Given the description of an element on the screen output the (x, y) to click on. 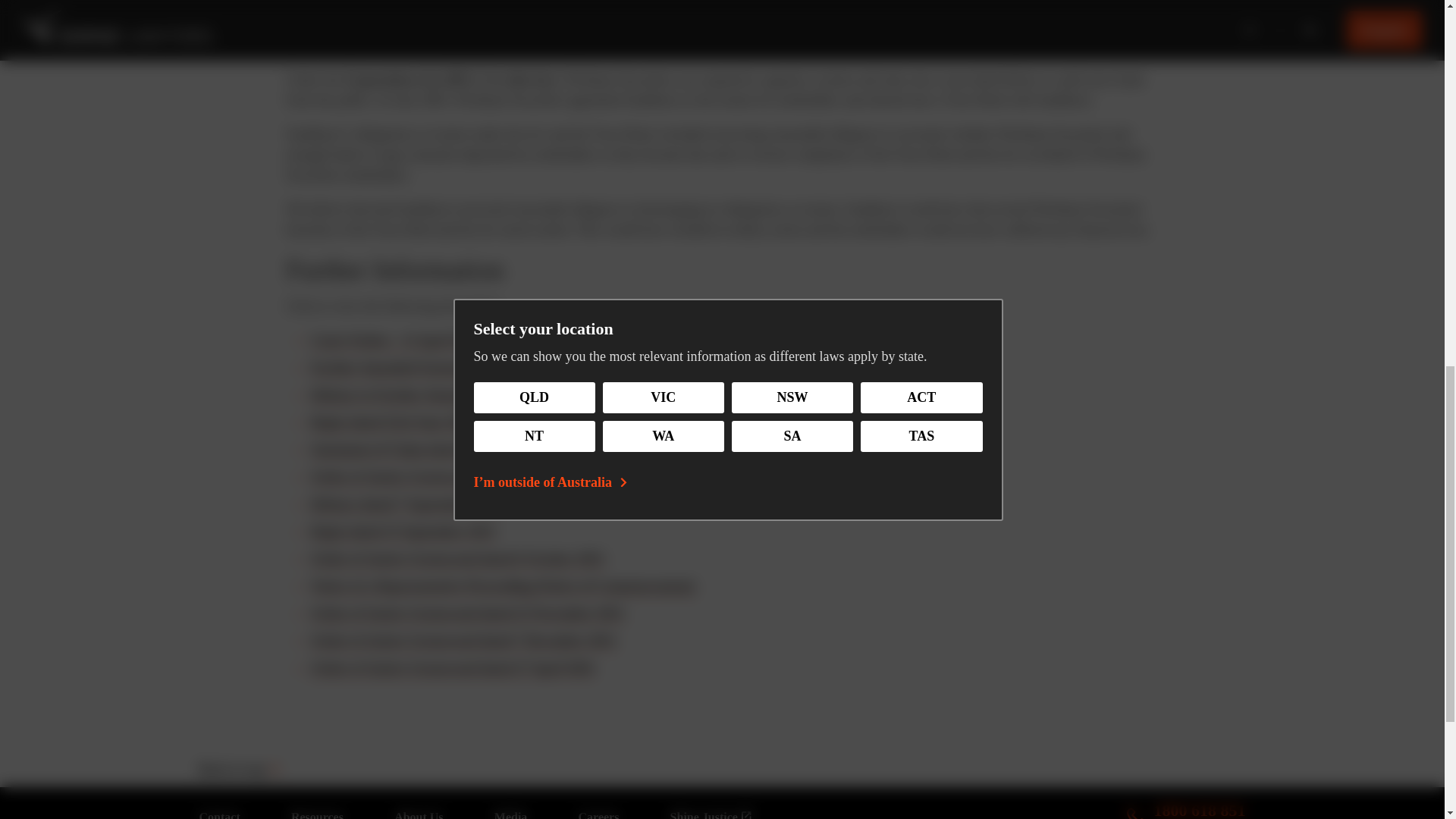
Court Orders - 11 April 2018 (394, 340)
Order of Justice Greenwood dated 7 December 2015 (461, 640)
Reply dated 23rd June 2017 (392, 421)
Order of Justice Greenwood dated 27th July 2015 (455, 476)
About Us (418, 814)
Defence dated 7 September 2015 (405, 503)
Statement of Claim dated 17 July 2015 (422, 449)
Resources (1185, 803)
Defence to Further Amended Statement of Claim (317, 814)
